Given the description of an element on the screen output the (x, y) to click on. 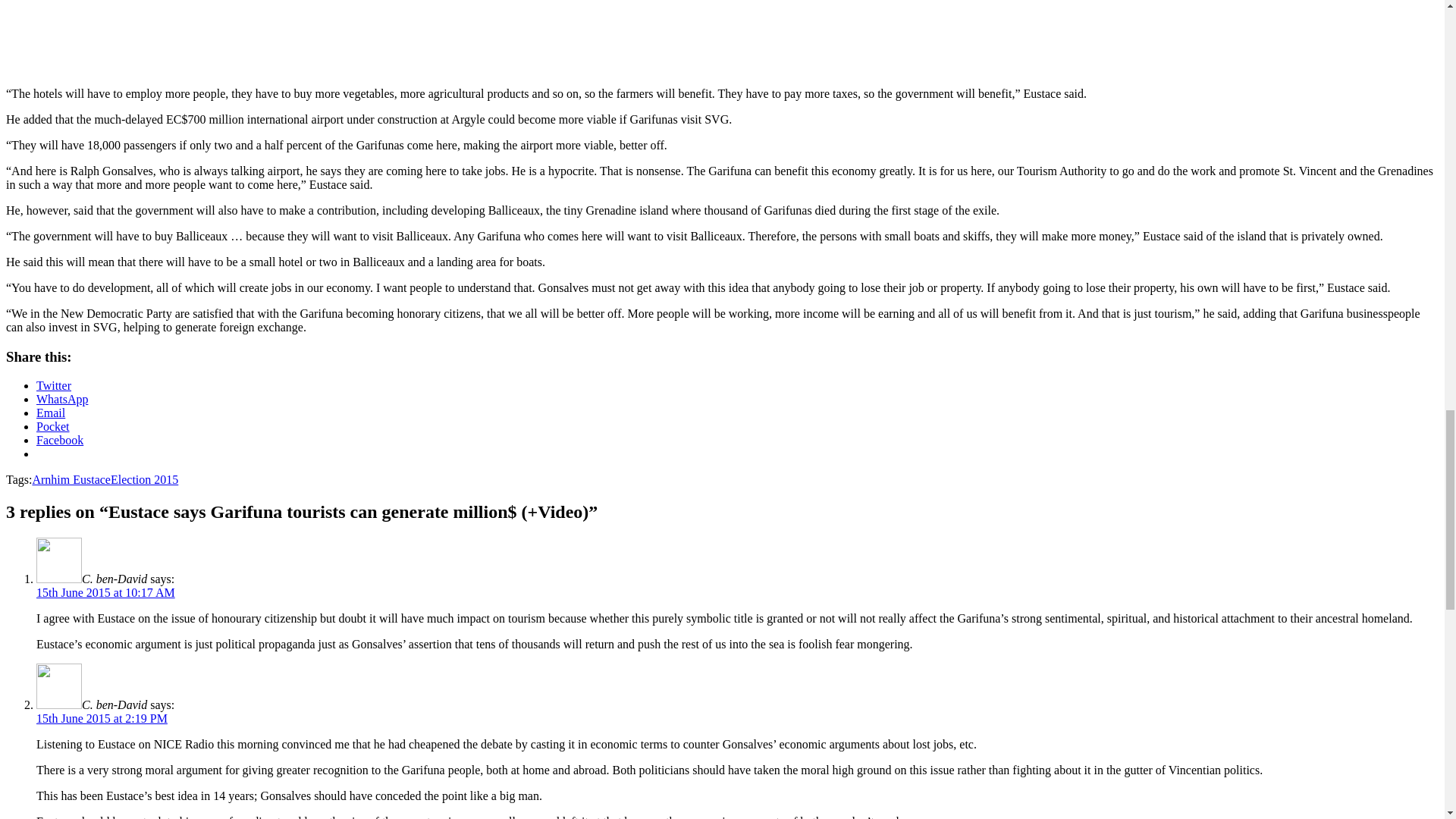
Click to share on Twitter (53, 385)
15th June 2015 at 2:19 PM (101, 717)
Click to email a link to a friend (50, 412)
Click to share on WhatsApp (61, 399)
15th June 2015 at 10:17 AM (105, 592)
Click to share on Pocket (52, 426)
Click to share on Facebook (59, 440)
